Given the description of an element on the screen output the (x, y) to click on. 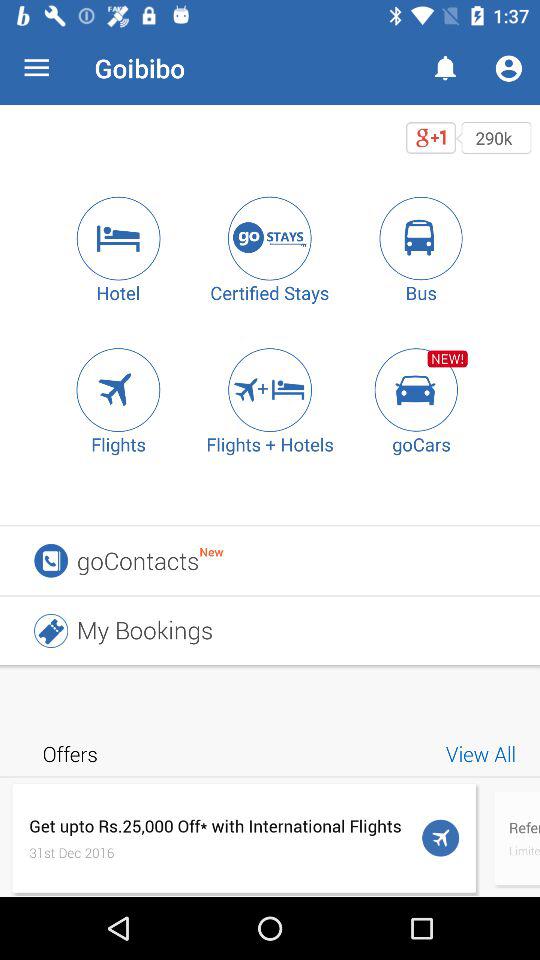
choose item to the left of goibibo (36, 68)
